Given the description of an element on the screen output the (x, y) to click on. 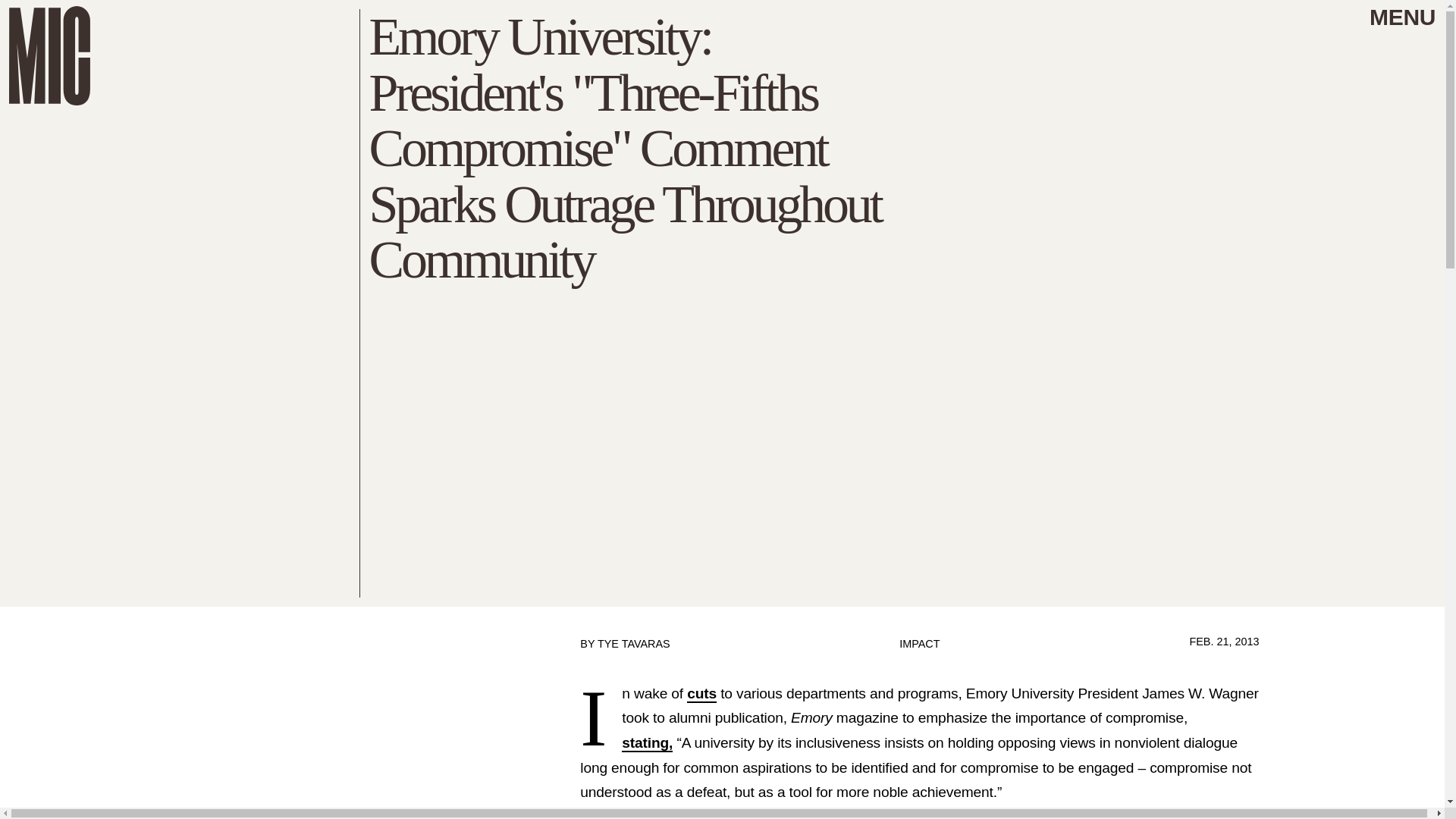
stating, (646, 743)
TYE TAVARAS (632, 644)
cuts (701, 693)
